Given the description of an element on the screen output the (x, y) to click on. 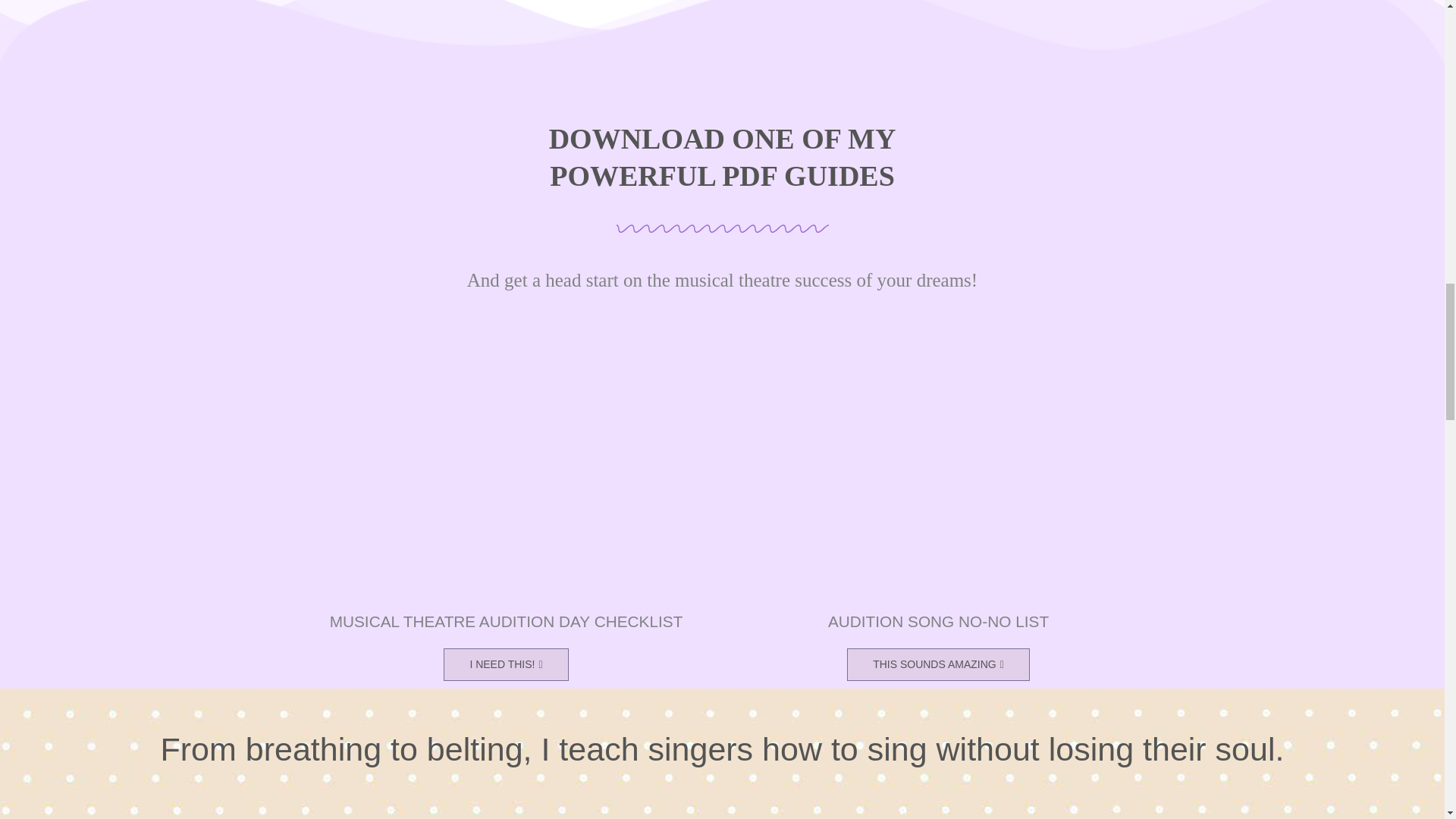
AUDITION SONG NO-NO LIST (938, 620)
THIS SOUNDS AMAZING (938, 664)
I NEED THIS! (505, 664)
